Given the description of an element on the screen output the (x, y) to click on. 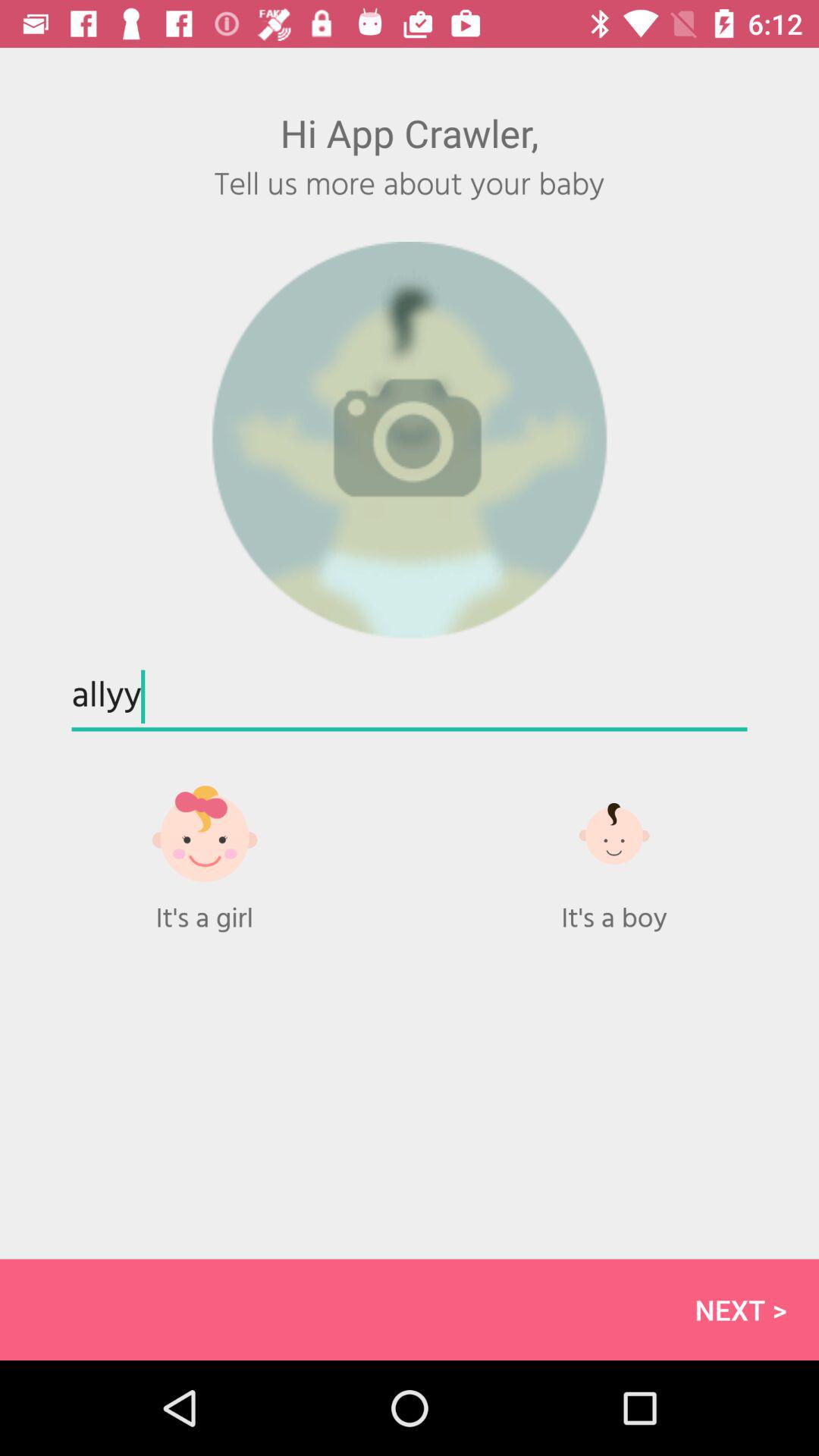
toggle girl baby (204, 849)
